Given the description of an element on the screen output the (x, y) to click on. 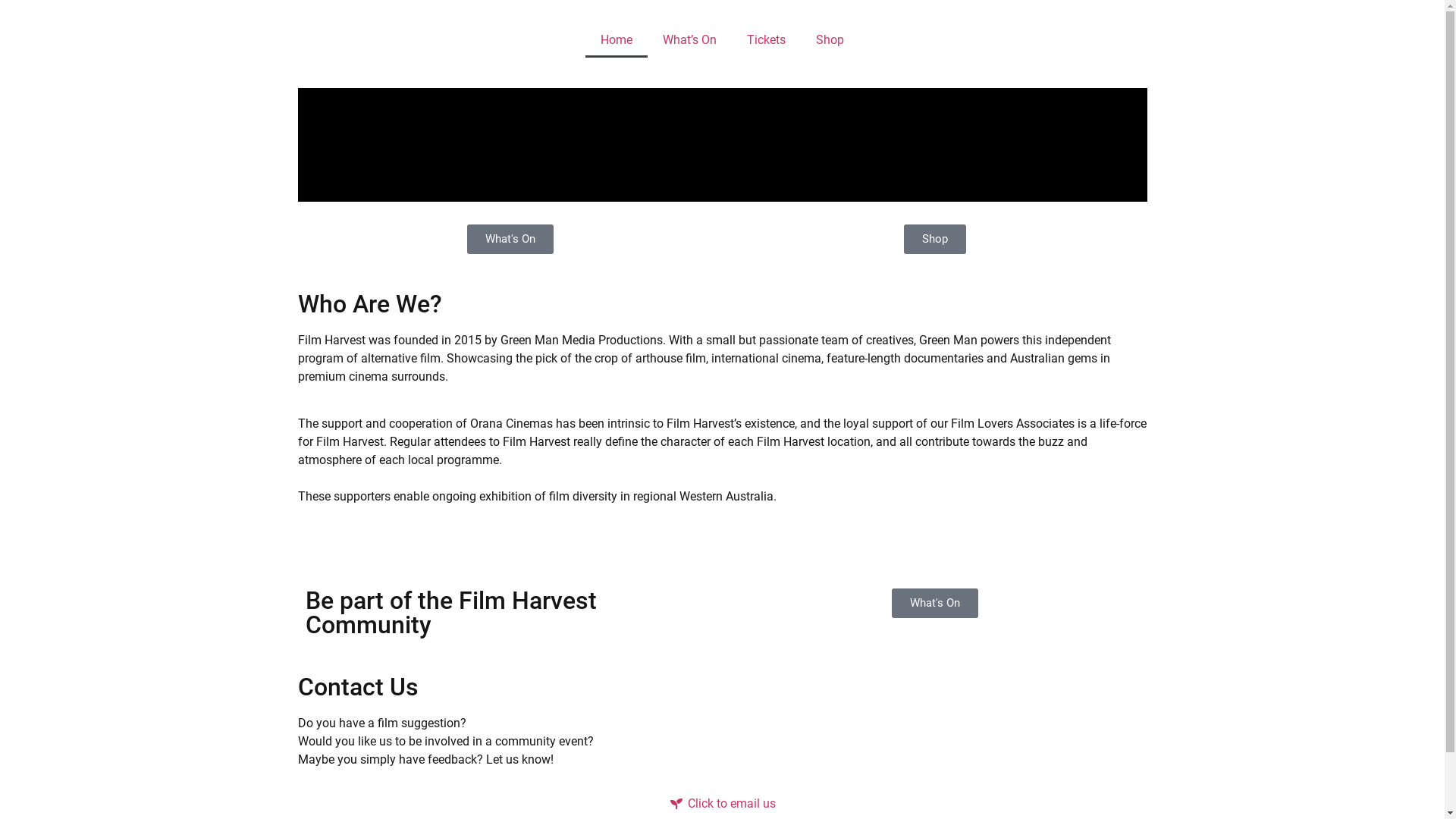
Home Element type: text (616, 39)
vimeo Video Player Element type: hover (721, 144)
What's On Element type: text (510, 239)
Click to email us Element type: text (721, 803)
What's On Element type: text (934, 603)
Shop Element type: text (934, 239)
Shop Element type: text (829, 39)
5ad55b30559bed230e4a0e4d_white stalk Element type: hover (721, 541)
Tickets Element type: text (765, 39)
